Given the description of an element on the screen output the (x, y) to click on. 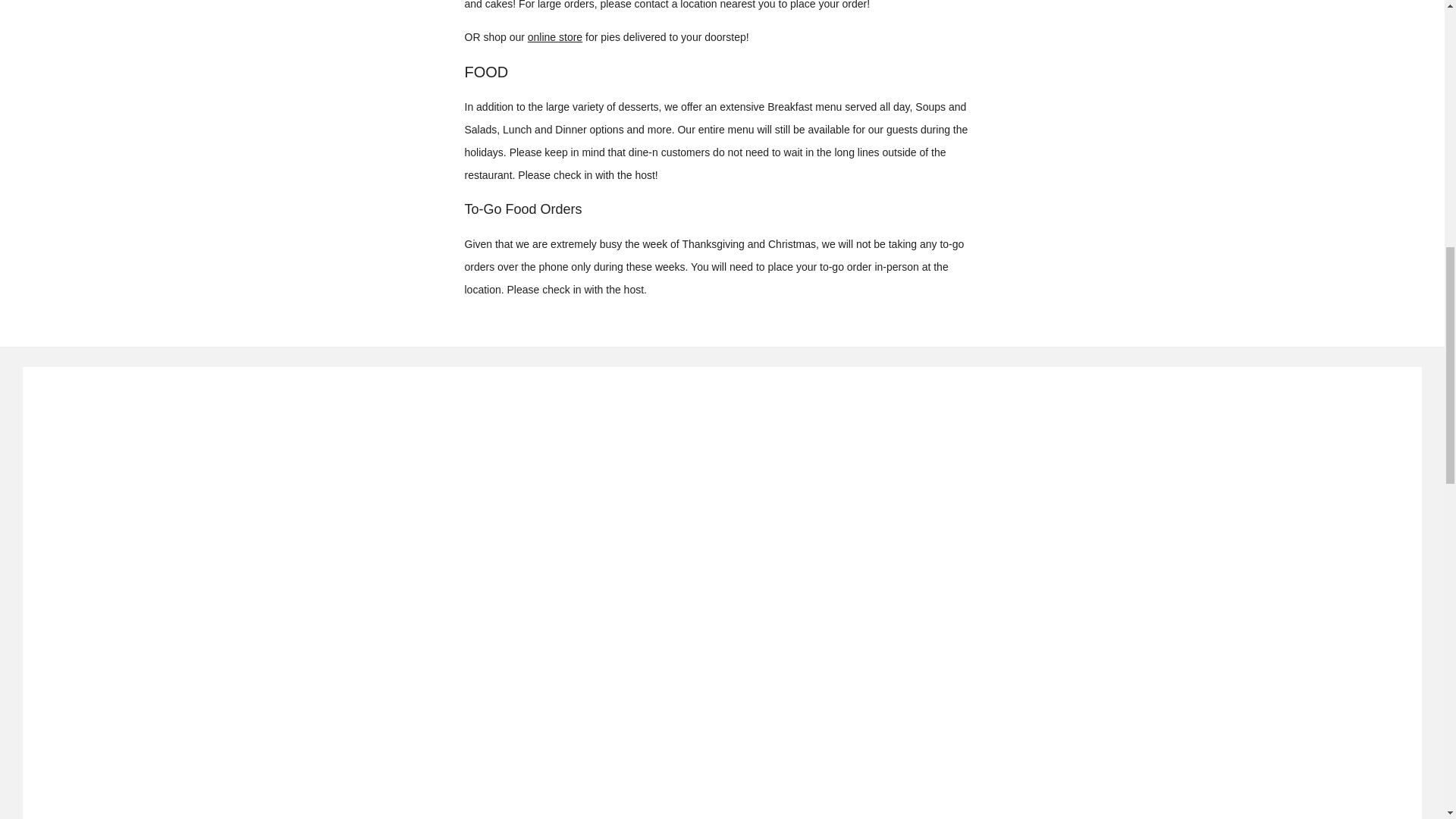
Fresh Baked Pies Delivered to Your Doorstep (554, 37)
